Given the description of an element on the screen output the (x, y) to click on. 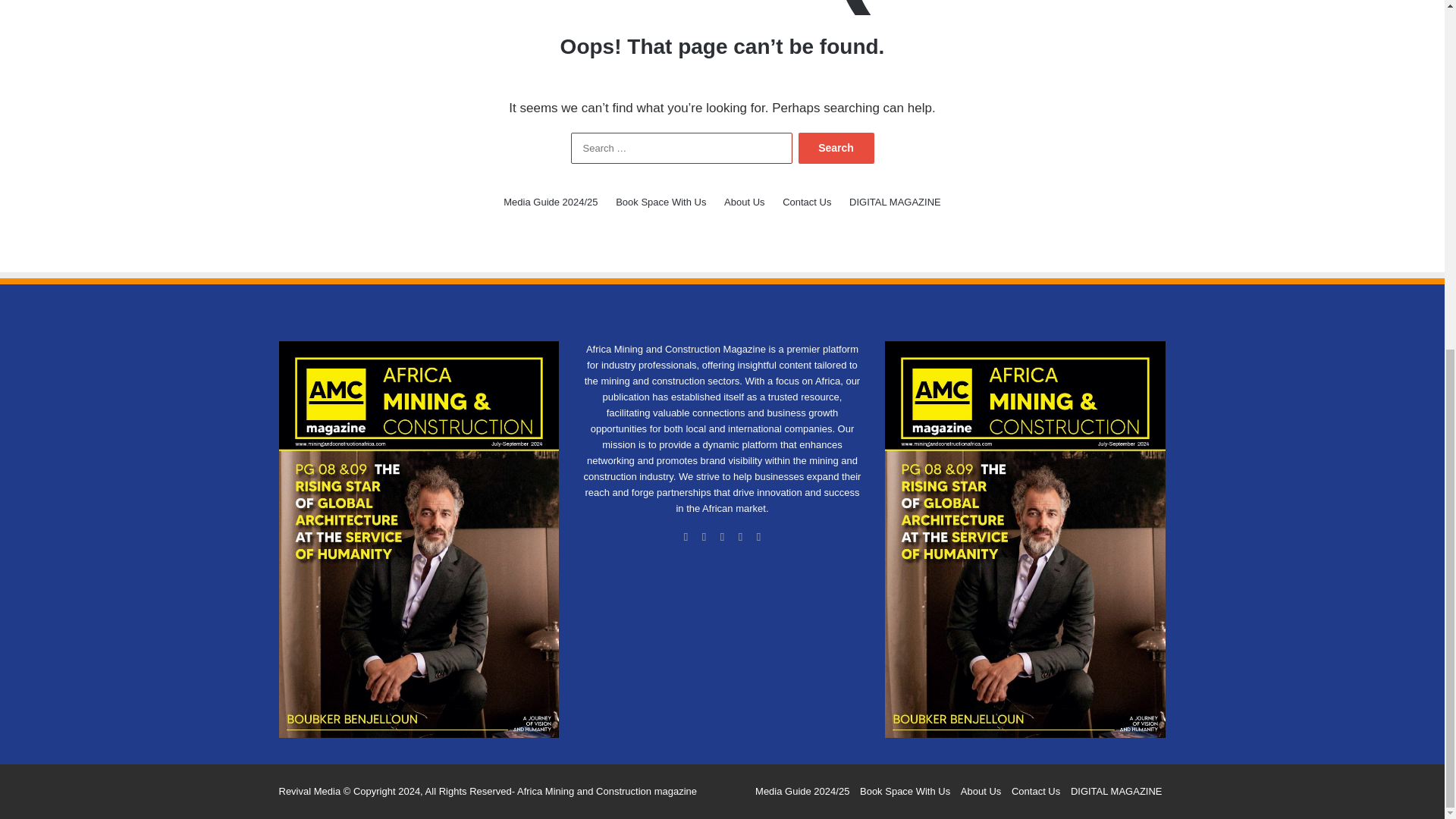
Search (835, 147)
X (703, 536)
Search (835, 147)
Search (835, 147)
Contact Us (807, 201)
Instagram (758, 536)
LinkedIn (721, 536)
DIGITAL MAGAZINE (894, 201)
Facebook (685, 536)
Book Space With Us (660, 201)
